Given the description of an element on the screen output the (x, y) to click on. 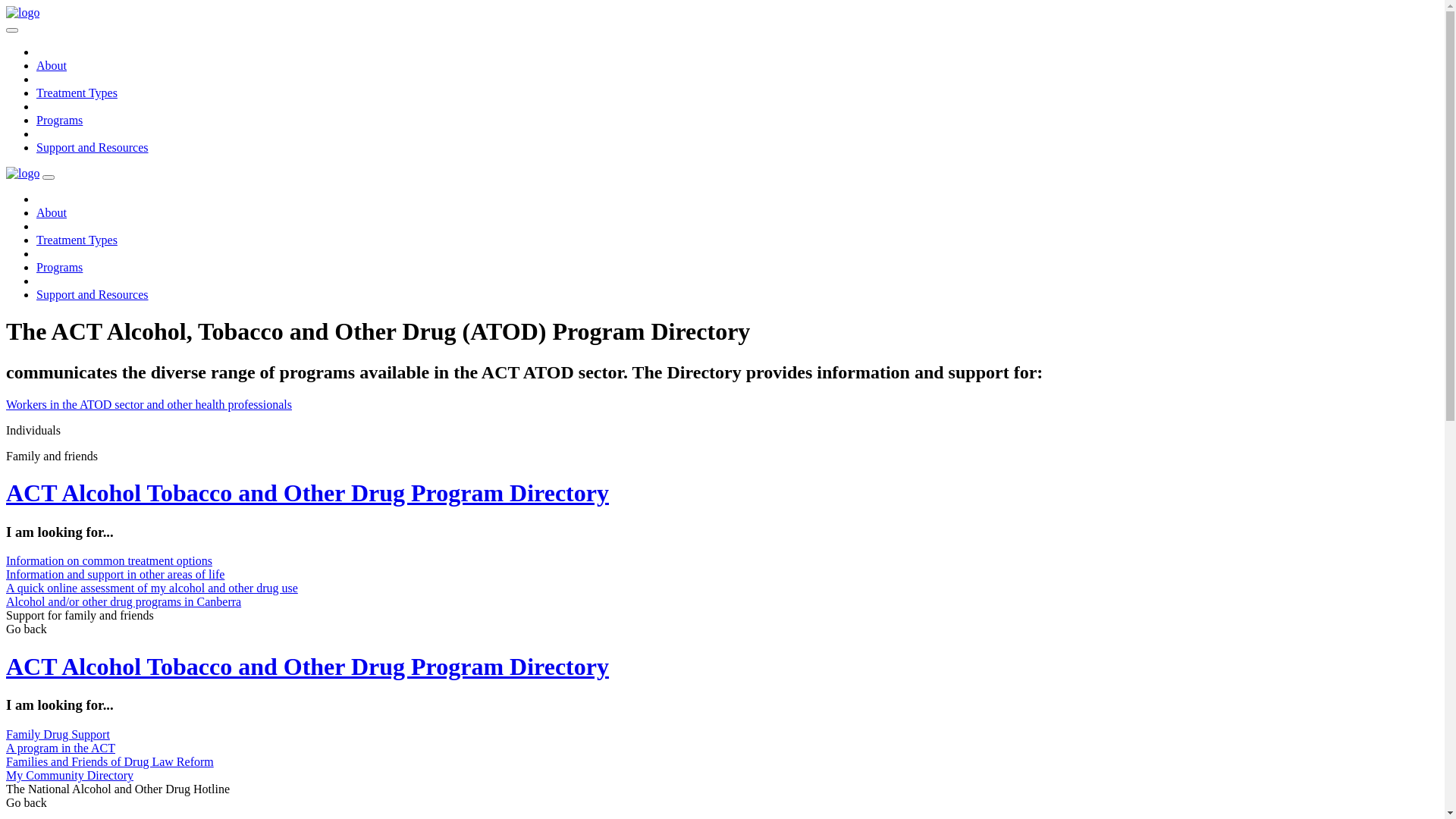
ACT Alcohol Tobacco and Other Drug Program Directory Element type: text (722, 666)
A program in the ACT Element type: text (60, 747)
Programs Element type: text (59, 119)
Support for family and friends Element type: text (79, 614)
Programs Element type: text (59, 266)
Information on common treatment options Element type: text (109, 560)
Support and Resources Element type: text (92, 294)
Alcohol and/or other drug programs in Canberra Element type: text (123, 601)
About Element type: text (51, 212)
Family Drug Support Element type: text (57, 734)
Workers in the ATOD sector and other health professionals Element type: text (722, 404)
Information and support in other areas of life Element type: text (115, 573)
Family and friends Element type: text (722, 456)
A quick online assessment of my alcohol and other drug use Element type: text (152, 587)
Treatment Types Element type: text (76, 92)
Families and Friends of Drug Law Reform Element type: text (109, 761)
ACT Alcohol Tobacco and Other Drug Program Directory Element type: text (722, 493)
Go back Element type: text (26, 802)
My Community Directory Element type: text (69, 774)
Support and Resources Element type: text (92, 147)
About Element type: text (51, 65)
The National Alcohol and Other Drug Hotline Element type: text (117, 788)
Treatment Types Element type: text (76, 239)
Go back Element type: text (26, 628)
Individuals Element type: text (722, 430)
